Given the description of an element on the screen output the (x, y) to click on. 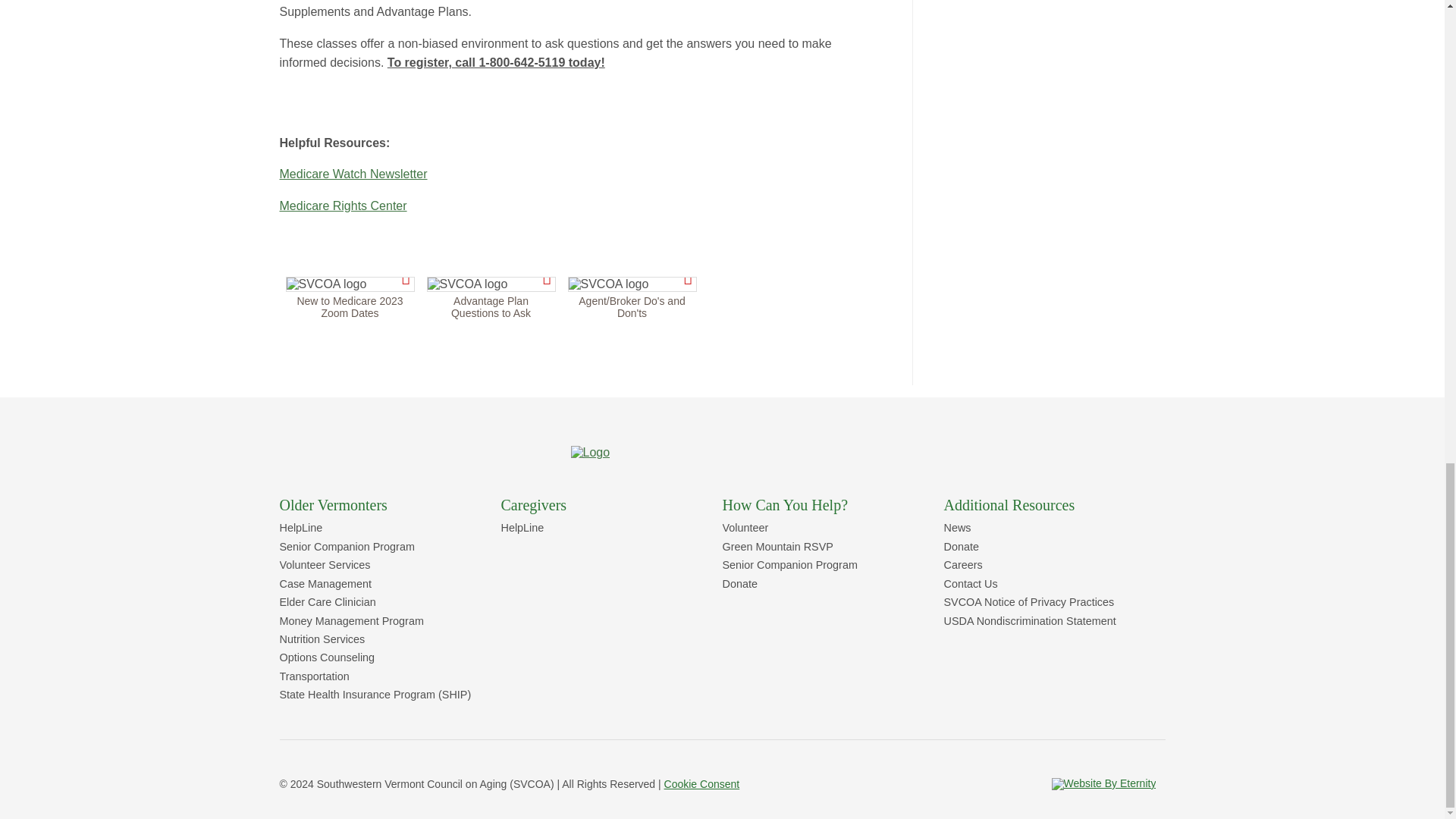
Watch us on YouTube (941, 783)
Follow us on Instagram (895, 783)
Return Home (590, 452)
Find us on Facebook (849, 783)
